Given the description of an element on the screen output the (x, y) to click on. 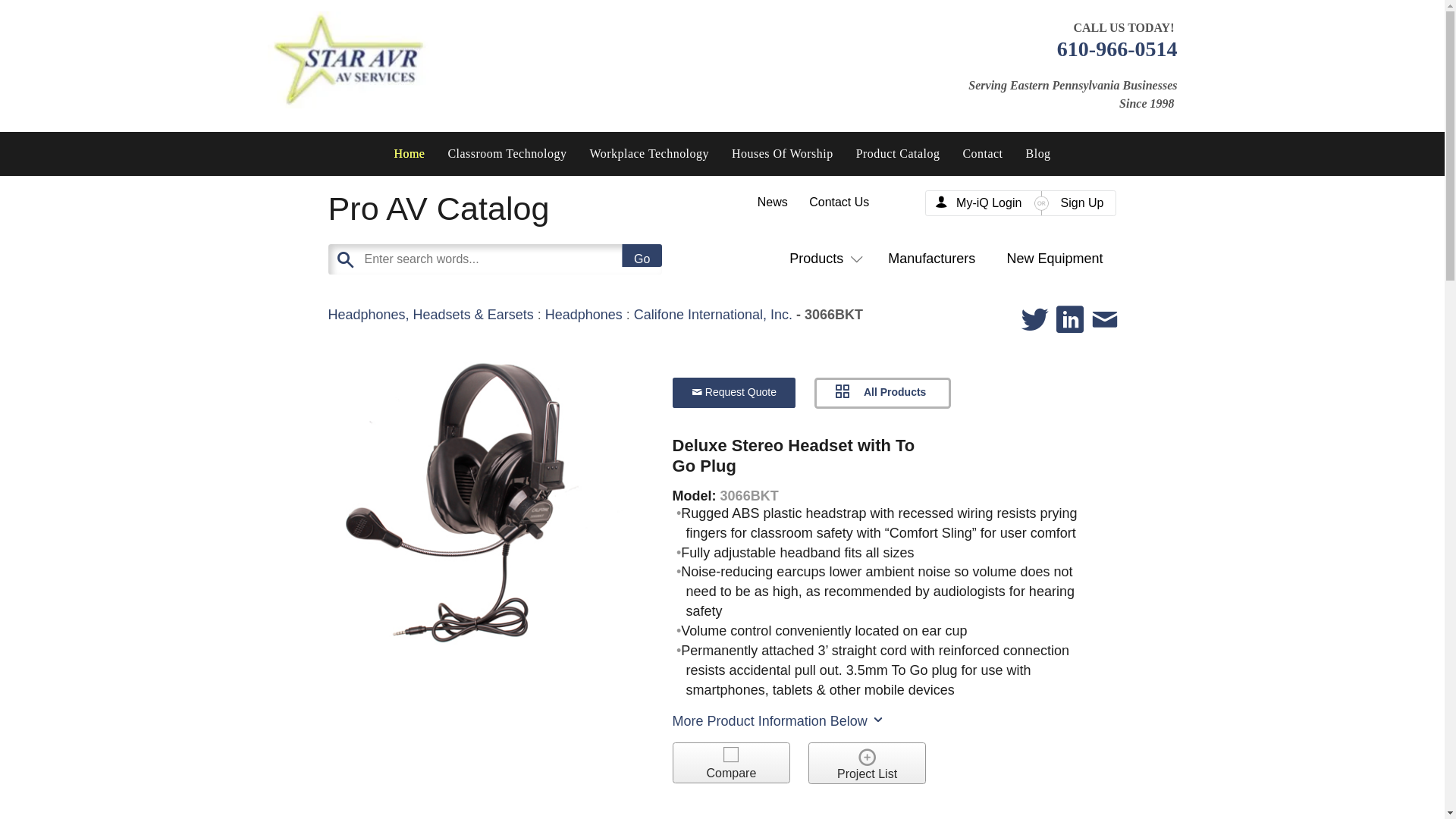
Star AVR (347, 59)
Blog (1038, 153)
Home (408, 153)
610-966-0514 (1117, 48)
Contact (981, 153)
Go (641, 255)
Product Catalog (898, 153)
Go (641, 255)
Enter search words... (531, 259)
Workplace Technology (649, 153)
Houses Of Worship (782, 153)
Classroom Technology (506, 153)
